Given the description of an element on the screen output the (x, y) to click on. 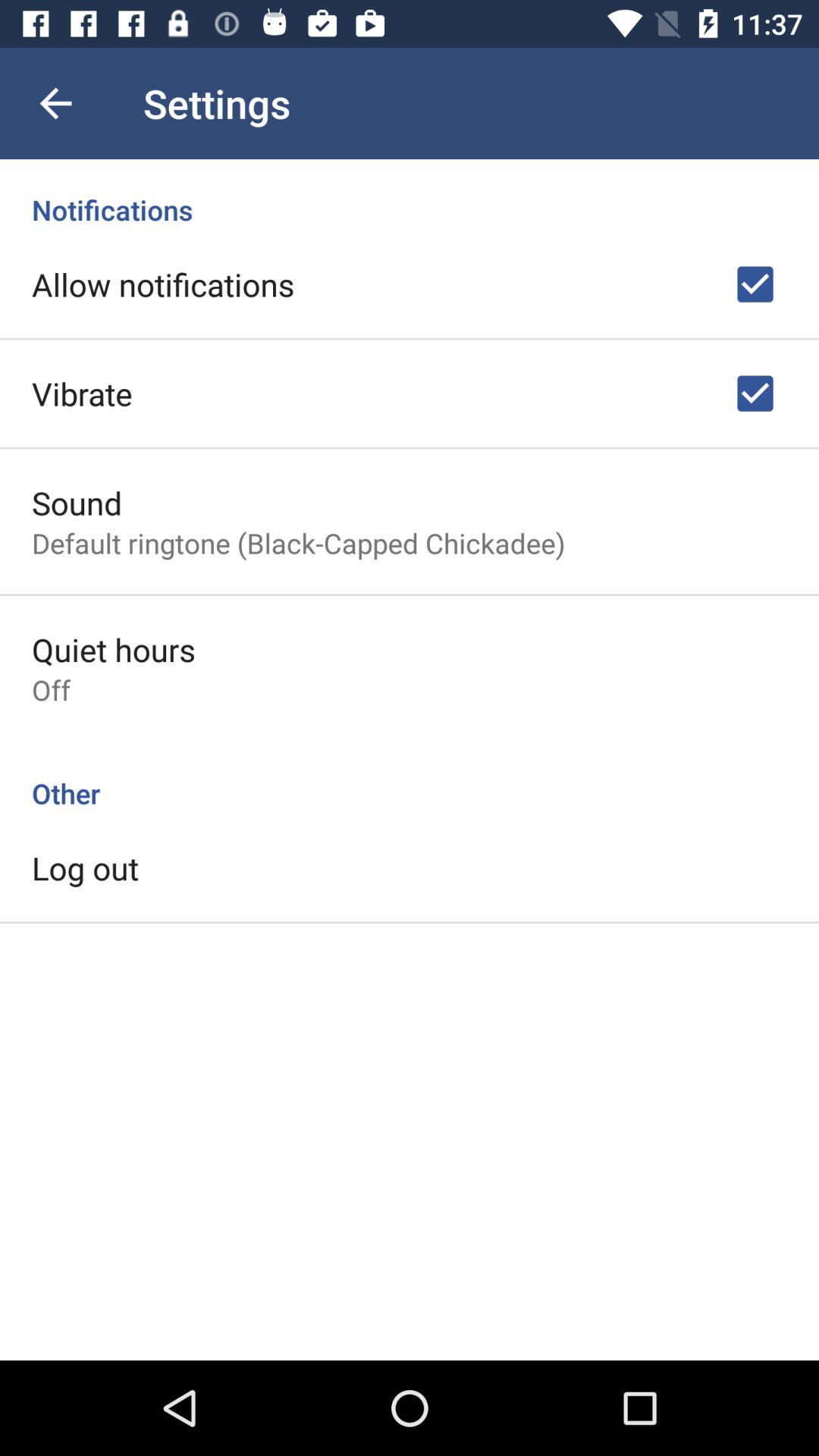
scroll until other icon (409, 777)
